Given the description of an element on the screen output the (x, y) to click on. 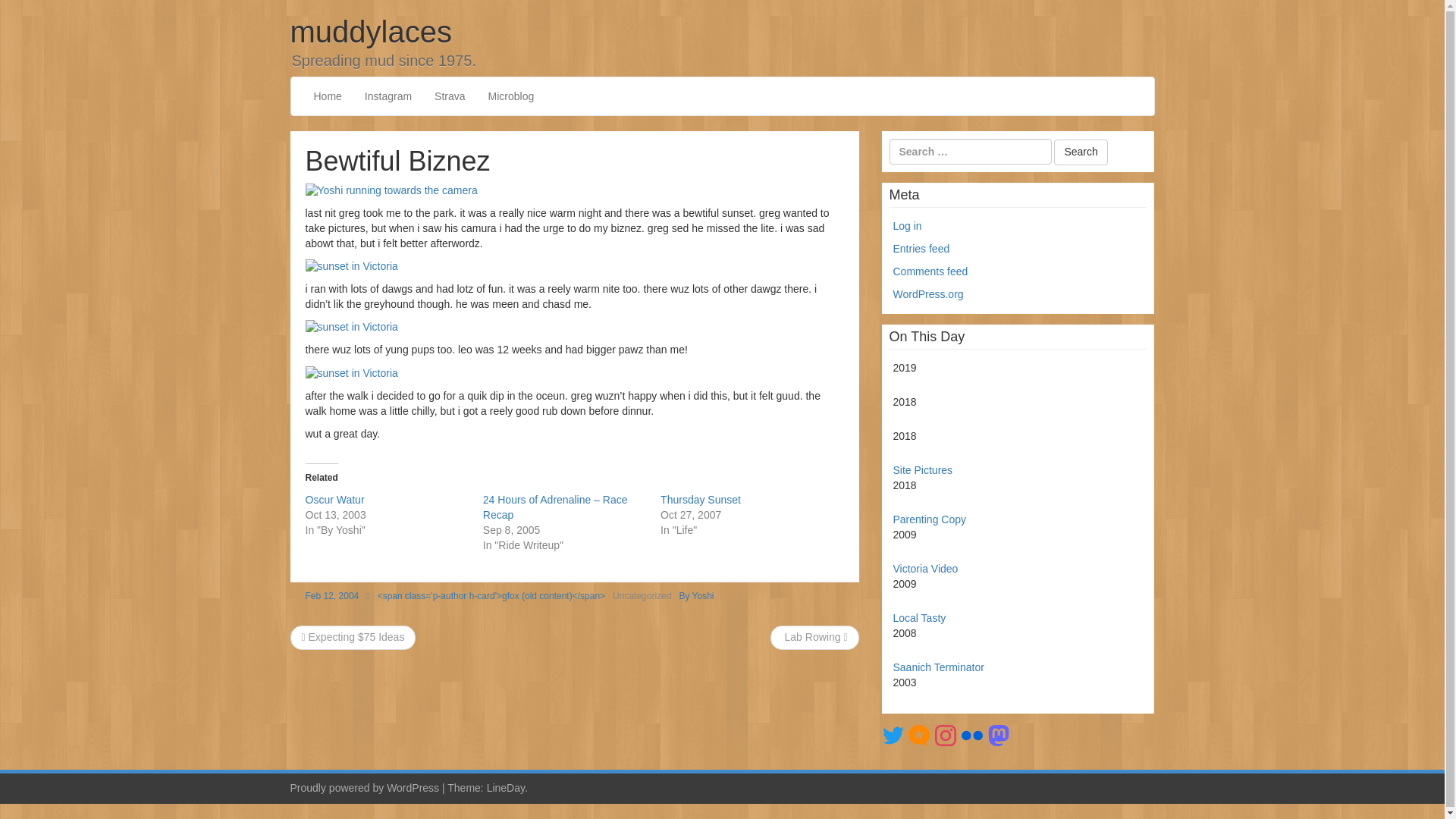
lookout, coming through! (390, 191)
muddylaces (370, 31)
LineDay (505, 787)
muddylaces (370, 31)
Thursday Sunset (701, 499)
Local Tasty (919, 617)
Twitter (893, 734)
Strava (449, 95)
Saanich Terminator (938, 666)
Flickr (971, 734)
